Given the description of an element on the screen output the (x, y) to click on. 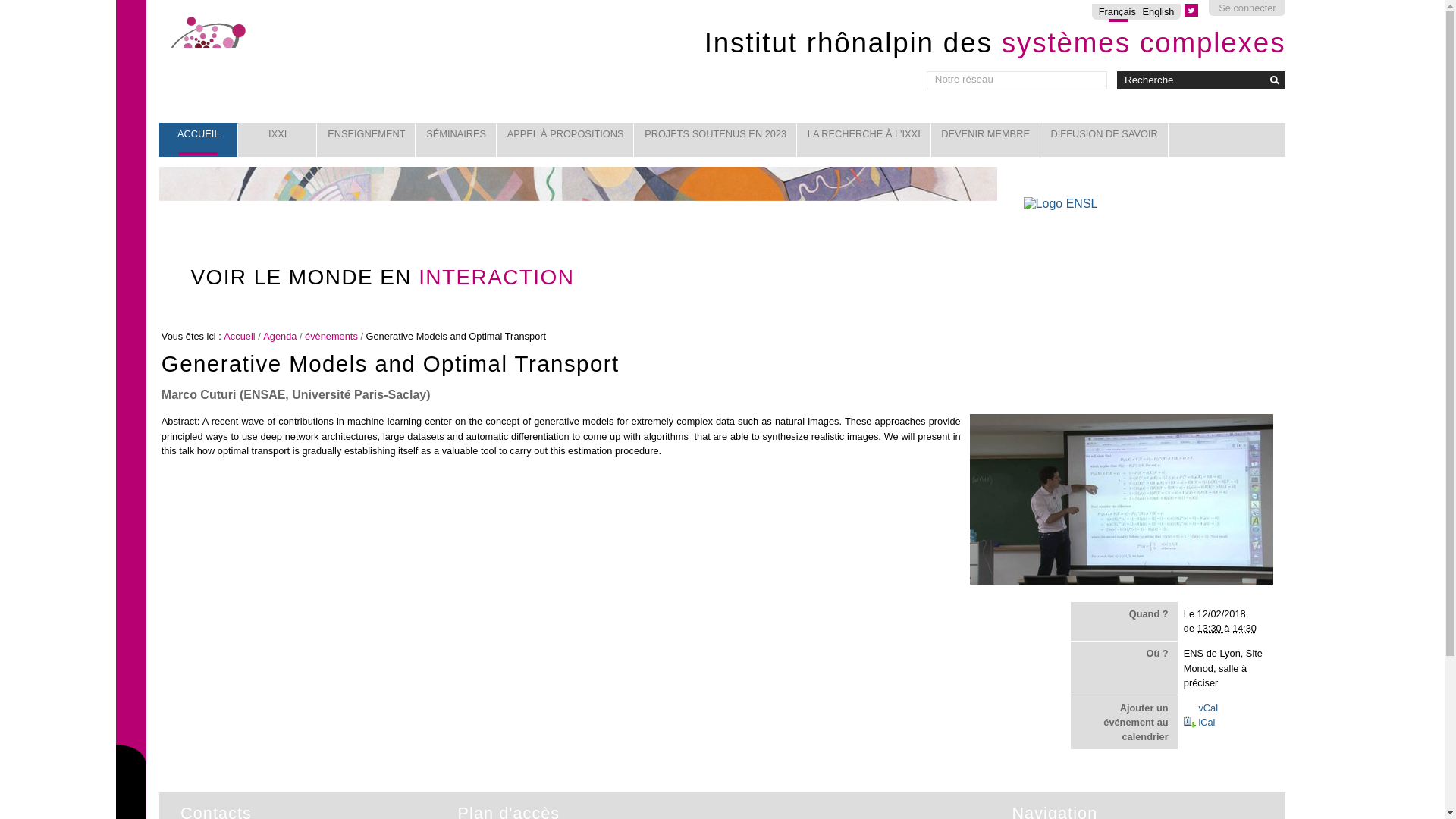
English (1157, 11)
ACCUEIL (198, 139)
PROJETS SOUTENUS EN 2023 (714, 139)
DEVENIR MEMBRE (986, 139)
Aller au contenu. (180, 19)
Agenda (280, 336)
IXXI (277, 139)
ENSEIGNEMENT (365, 139)
Accueil (239, 336)
English (1157, 11)
